Given the description of an element on the screen output the (x, y) to click on. 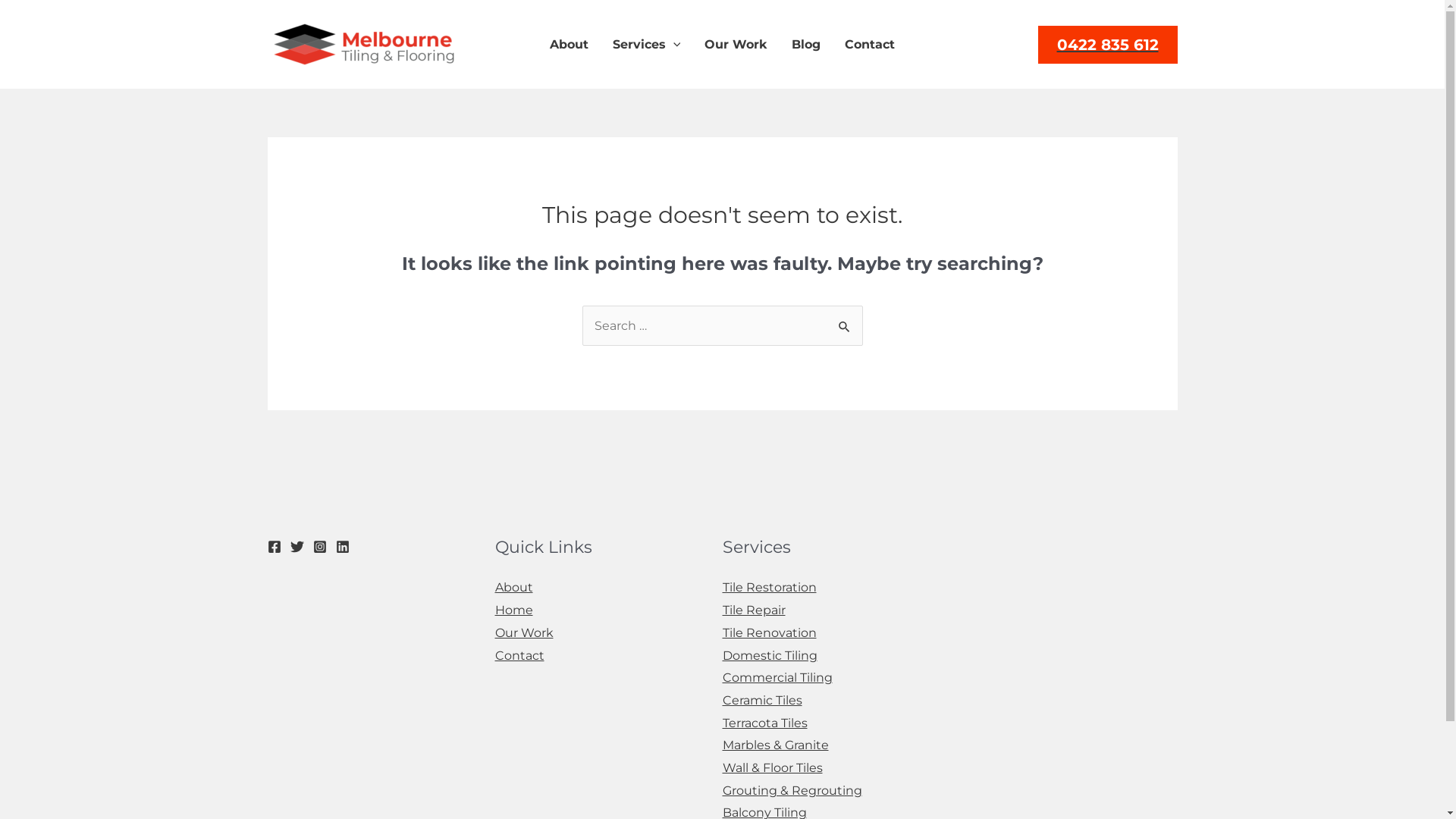
Ceramic Tiles Element type: text (761, 700)
Our Work Element type: text (523, 632)
Services Element type: text (646, 44)
Marbles & Granite Element type: text (774, 744)
Search Element type: text (845, 321)
Wall & Floor Tiles Element type: text (771, 767)
Terracota Tiles Element type: text (763, 722)
Contact Element type: text (869, 44)
Our Work Element type: text (735, 44)
Home Element type: text (513, 609)
Tile Repair Element type: text (752, 609)
About Element type: text (568, 44)
Contact Element type: text (518, 655)
Domestic Tiling Element type: text (768, 655)
Grouting & Regrouting Element type: text (791, 790)
About Element type: text (513, 587)
0422 835 612 Element type: text (1106, 44)
Tile Restoration Element type: text (768, 587)
Commercial Tiling Element type: text (776, 677)
Tile Renovation Element type: text (768, 632)
Blog Element type: text (805, 44)
